Given the description of an element on the screen output the (x, y) to click on. 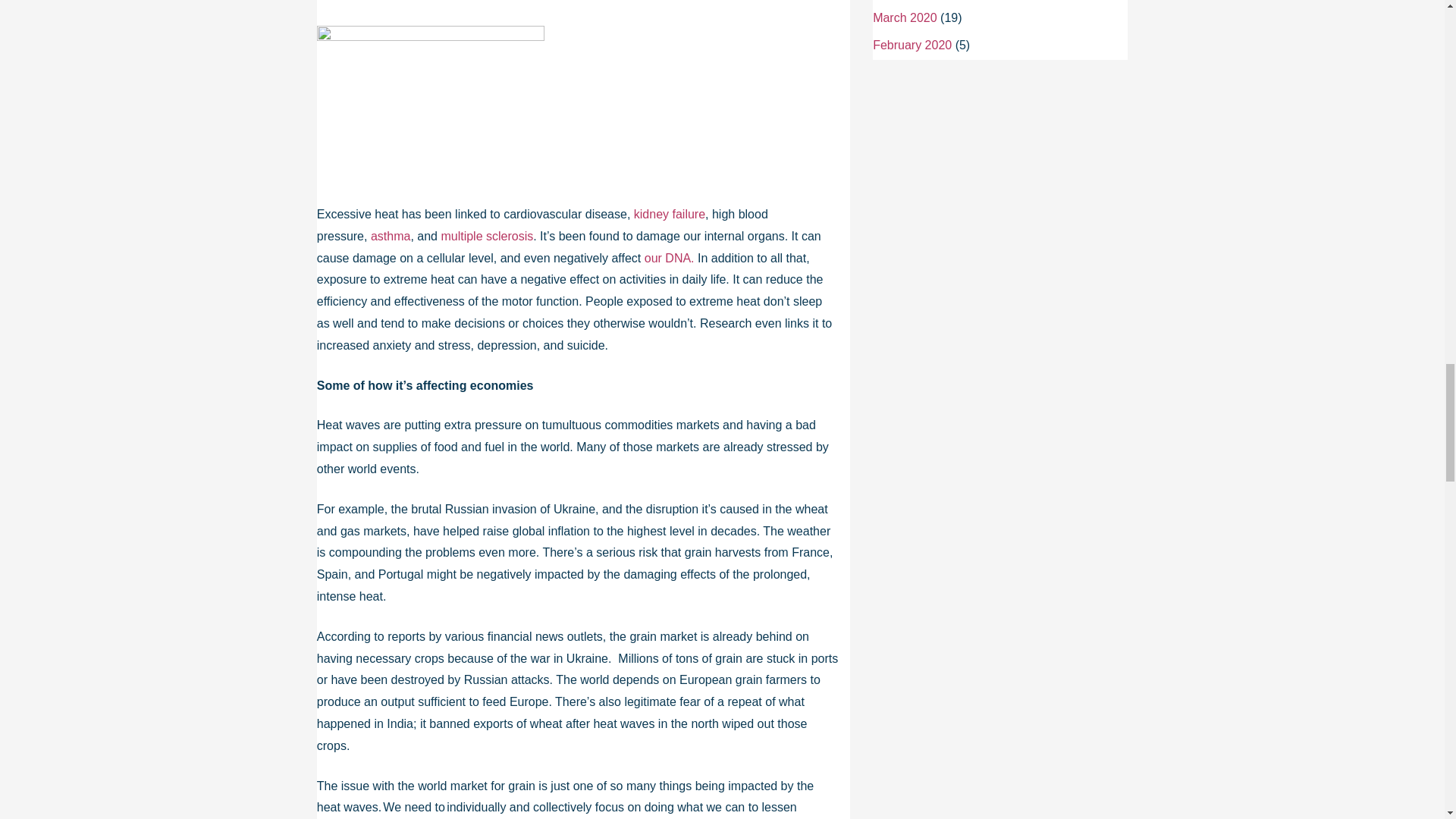
our DNA. (669, 257)
multiple sclerosis (486, 236)
asthma (390, 236)
kidney failure (668, 214)
